Given the description of an element on the screen output the (x, y) to click on. 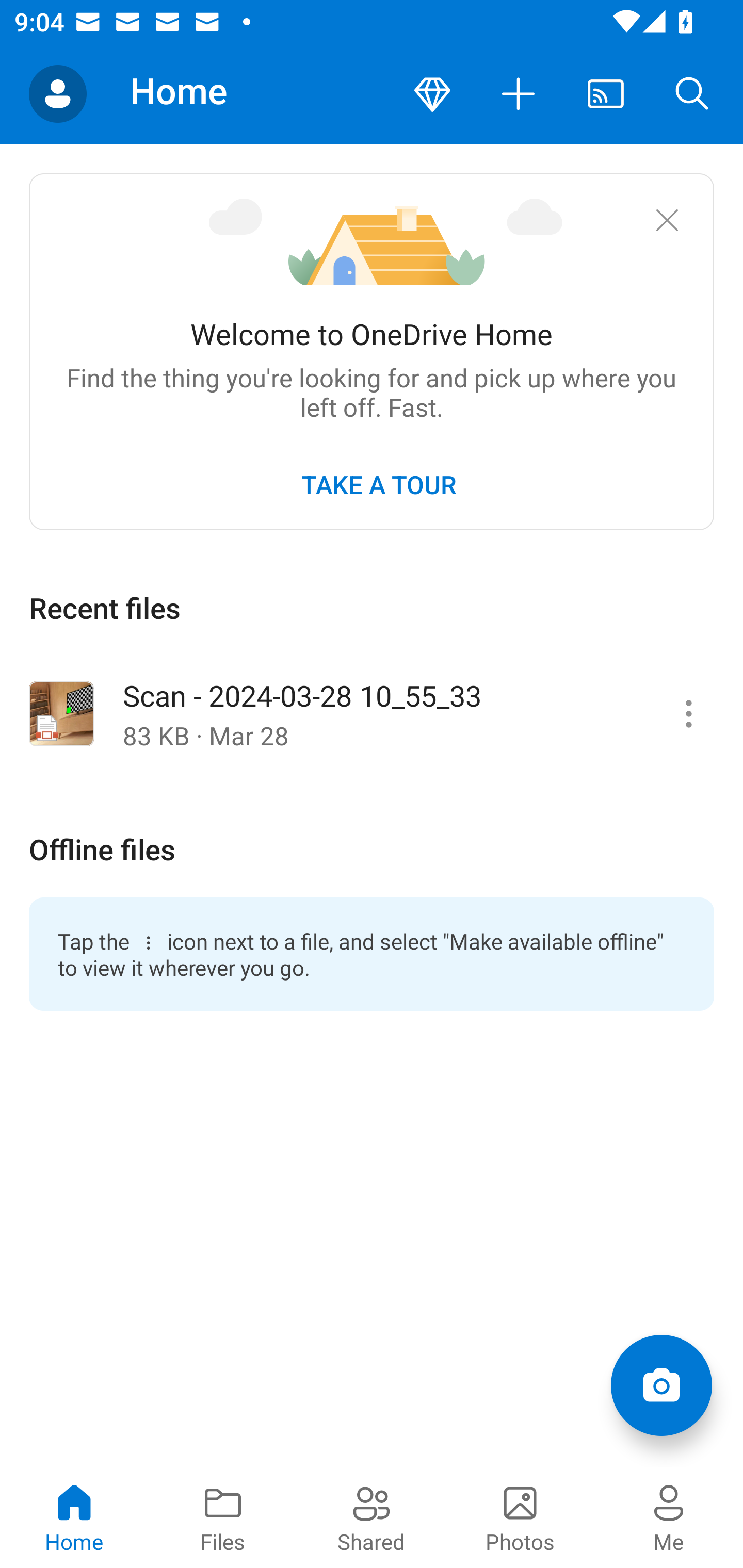
Account switcher (57, 93)
Cast. Disconnected (605, 93)
Premium button (432, 93)
More actions button (518, 93)
Search button (692, 93)
Close (667, 220)
TAKE A TOUR (378, 484)
Scan - 2024-03-28 10_55_33 commands (688, 713)
Scan (660, 1385)
Files pivot Files (222, 1517)
Shared pivot Shared (371, 1517)
Photos pivot Photos (519, 1517)
Me pivot Me (668, 1517)
